Given the description of an element on the screen output the (x, y) to click on. 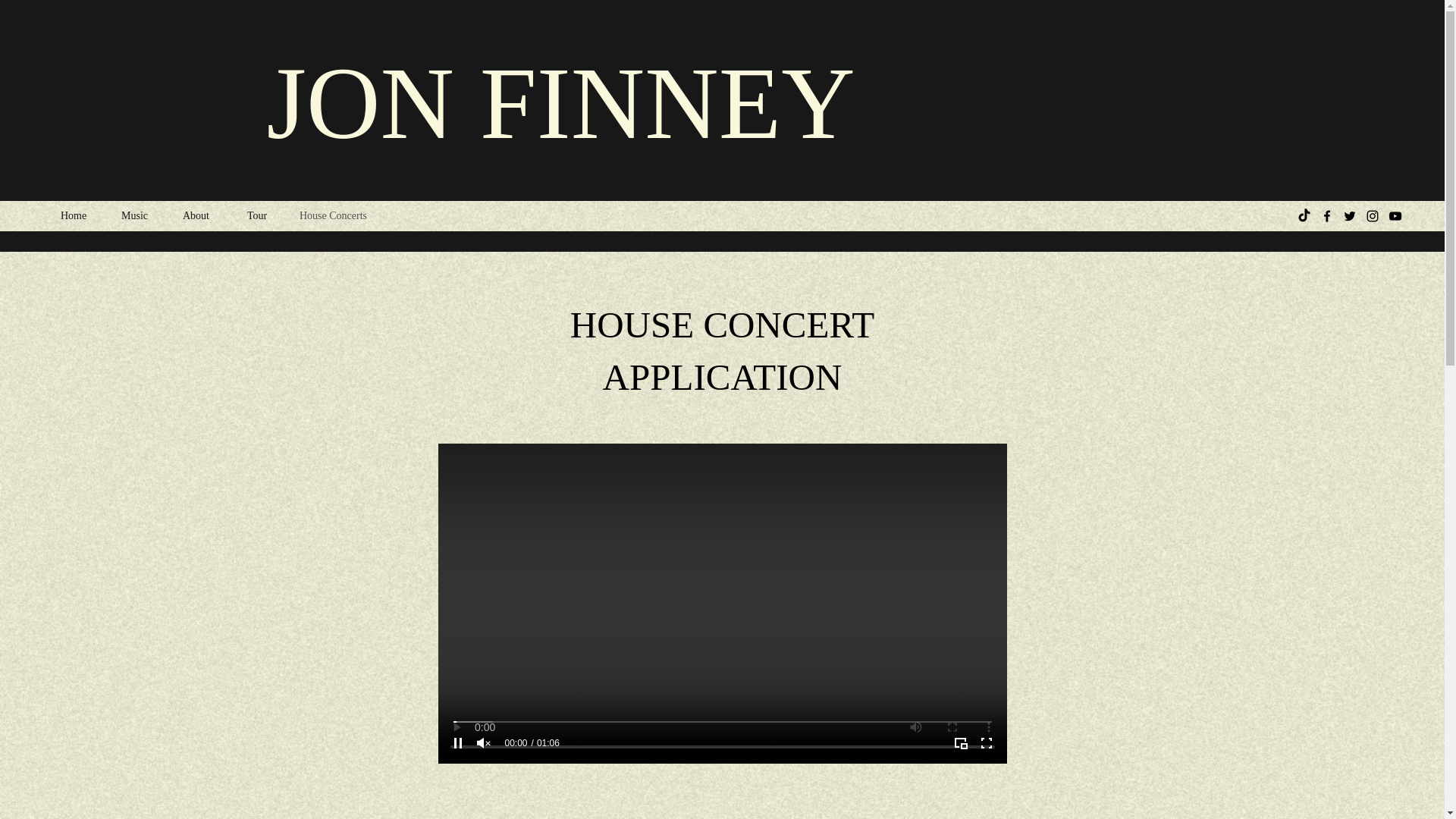
House Concerts (364, 215)
About (207, 215)
Music (143, 215)
Tour (266, 215)
Home (82, 215)
